Given the description of an element on the screen output the (x, y) to click on. 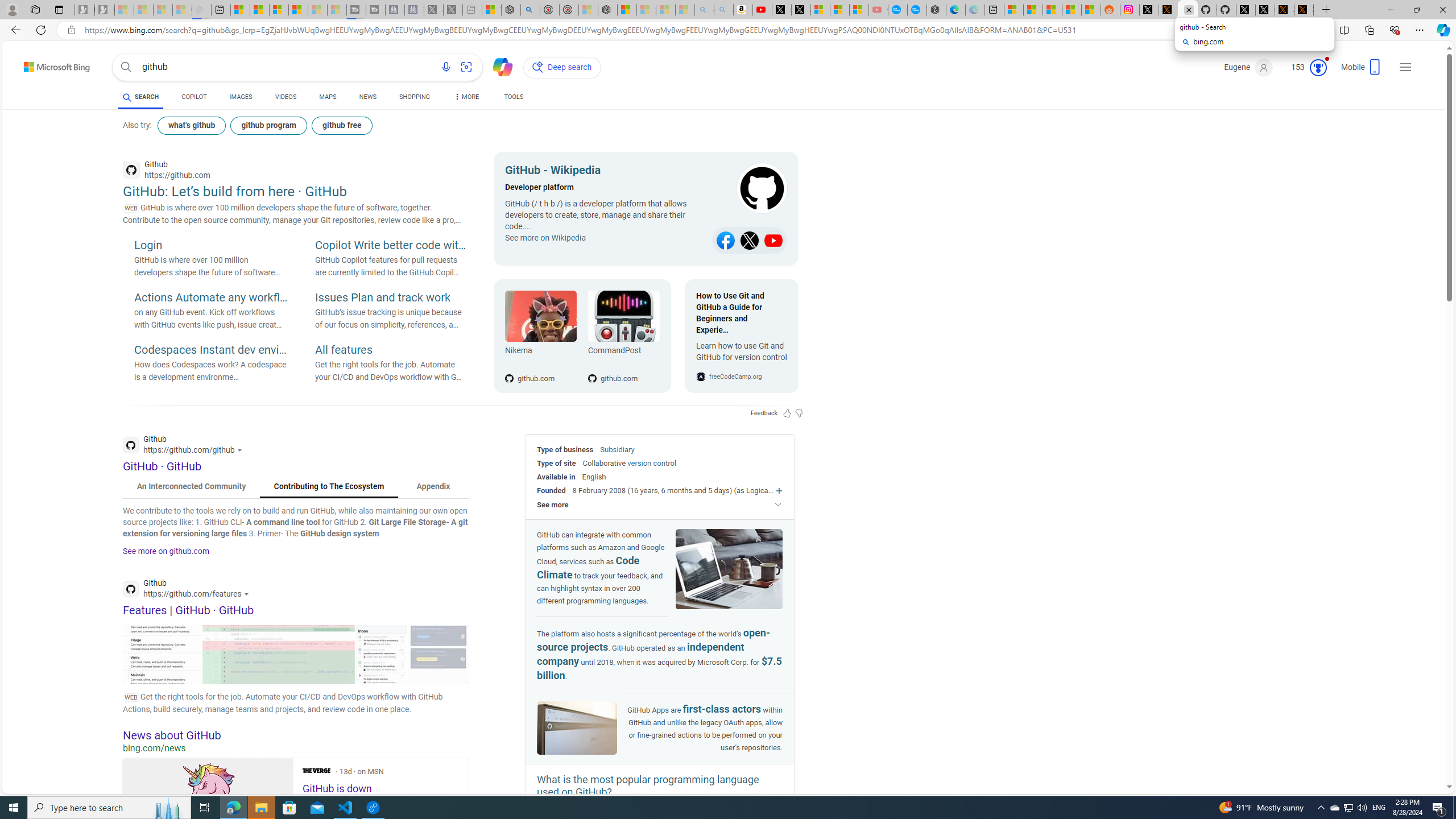
CommandPost (623, 315)
Back (13, 29)
bing.com/news (295, 748)
Nikema Nikema github.com (540, 335)
Settings and quick links (1404, 67)
Newsletter Sign Up - Sleeping (104, 9)
Appendix (432, 486)
Browser essentials (1394, 29)
CommandPost (623, 352)
View details (437, 653)
Streaming Coverage | T3 - Sleeping (356, 9)
Personal Profile (12, 9)
CommandPost CommandPost github.com (617, 335)
